Given the description of an element on the screen output the (x, y) to click on. 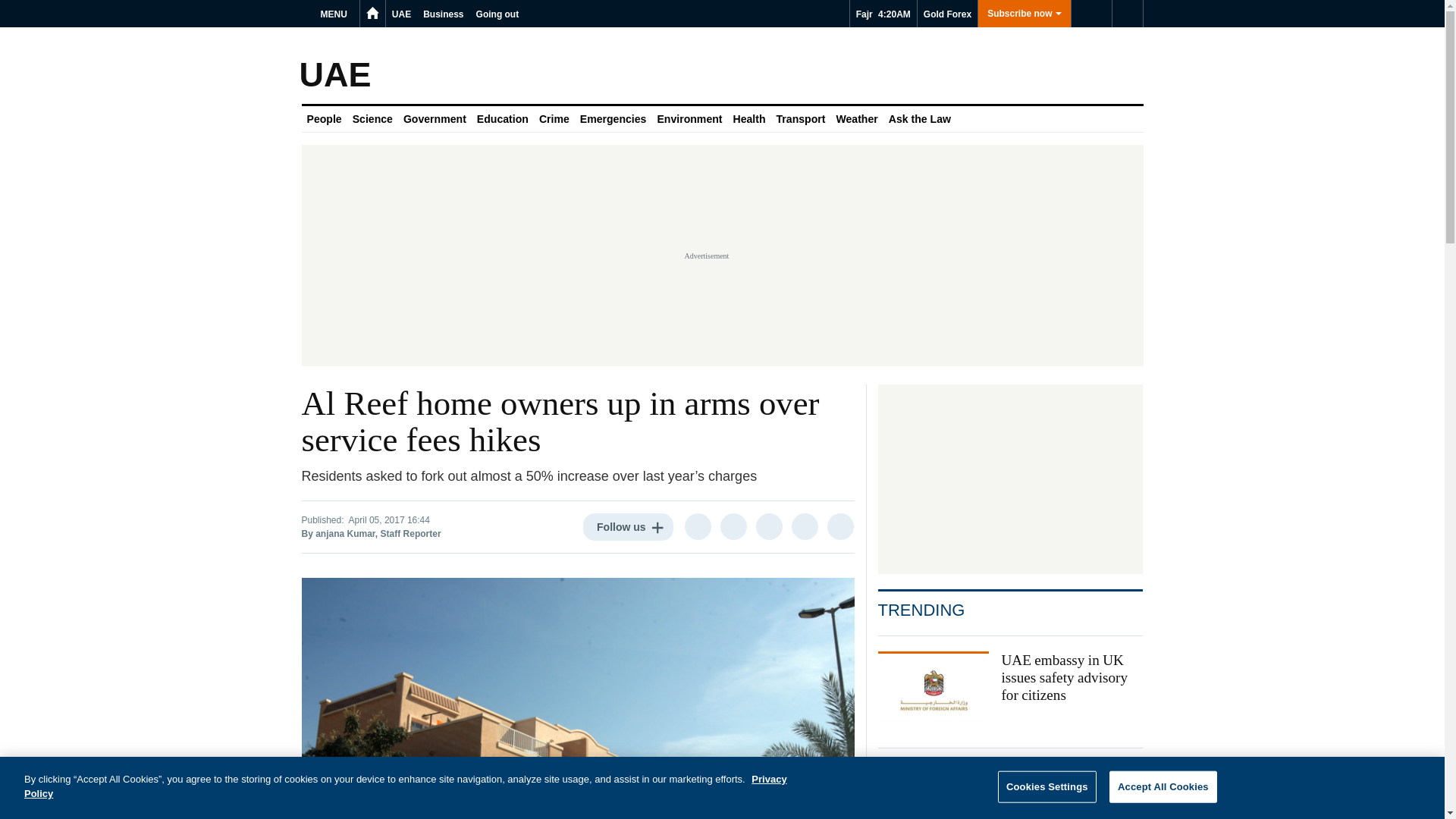
Going out (497, 13)
Subscribe now (1024, 13)
Fajr 4:20AM (883, 13)
UAE (400, 13)
Gold Forex (946, 13)
MENU (336, 13)
Business (442, 13)
